Given the description of an element on the screen output the (x, y) to click on. 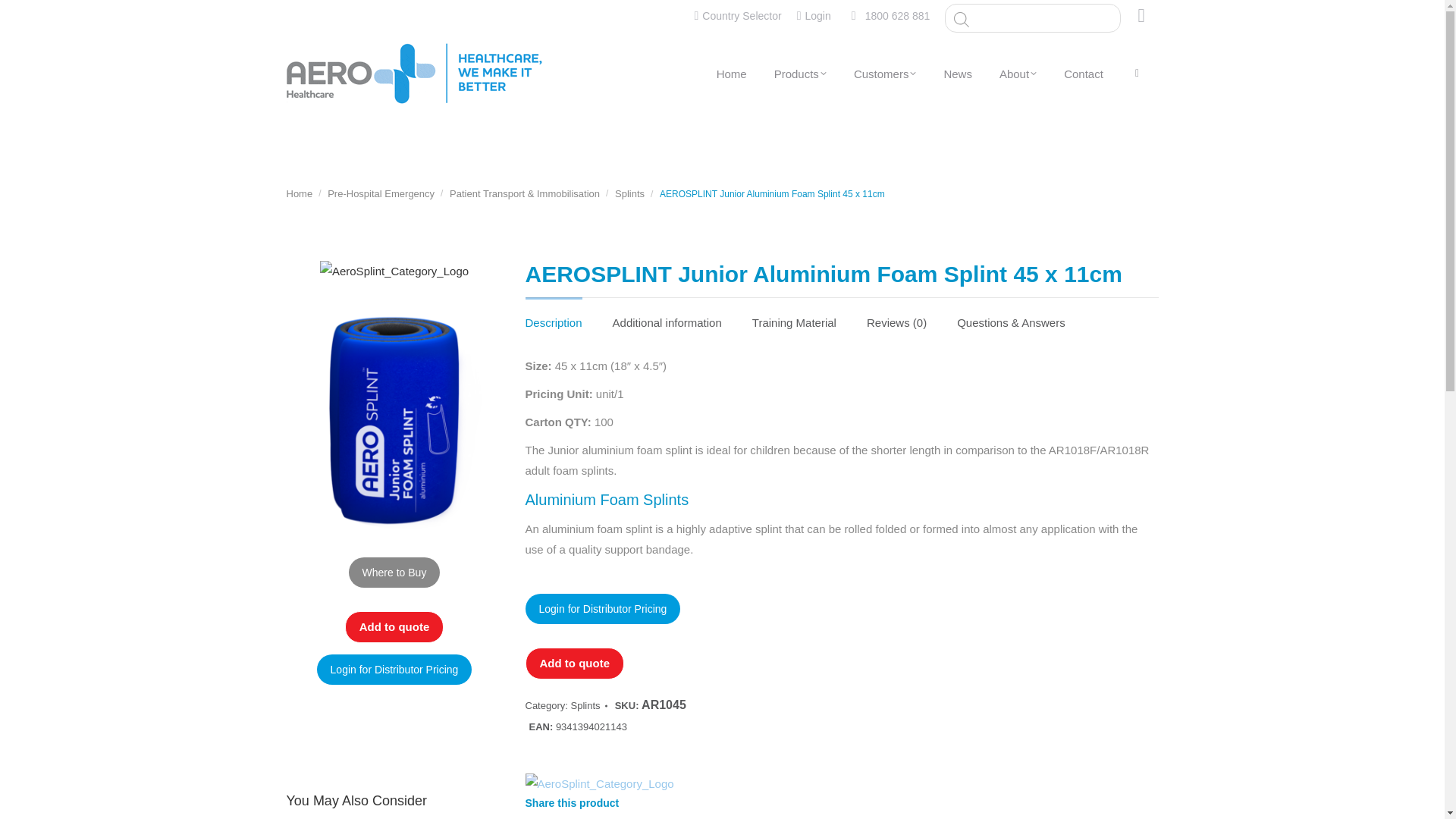
Go! (24, 16)
Splints (629, 193)
1800 628 881 (897, 15)
Customers (885, 72)
Login (813, 15)
Home (299, 193)
Pre-Hospital Emergency (380, 193)
AeroSplint (598, 783)
